Given the description of an element on the screen output the (x, y) to click on. 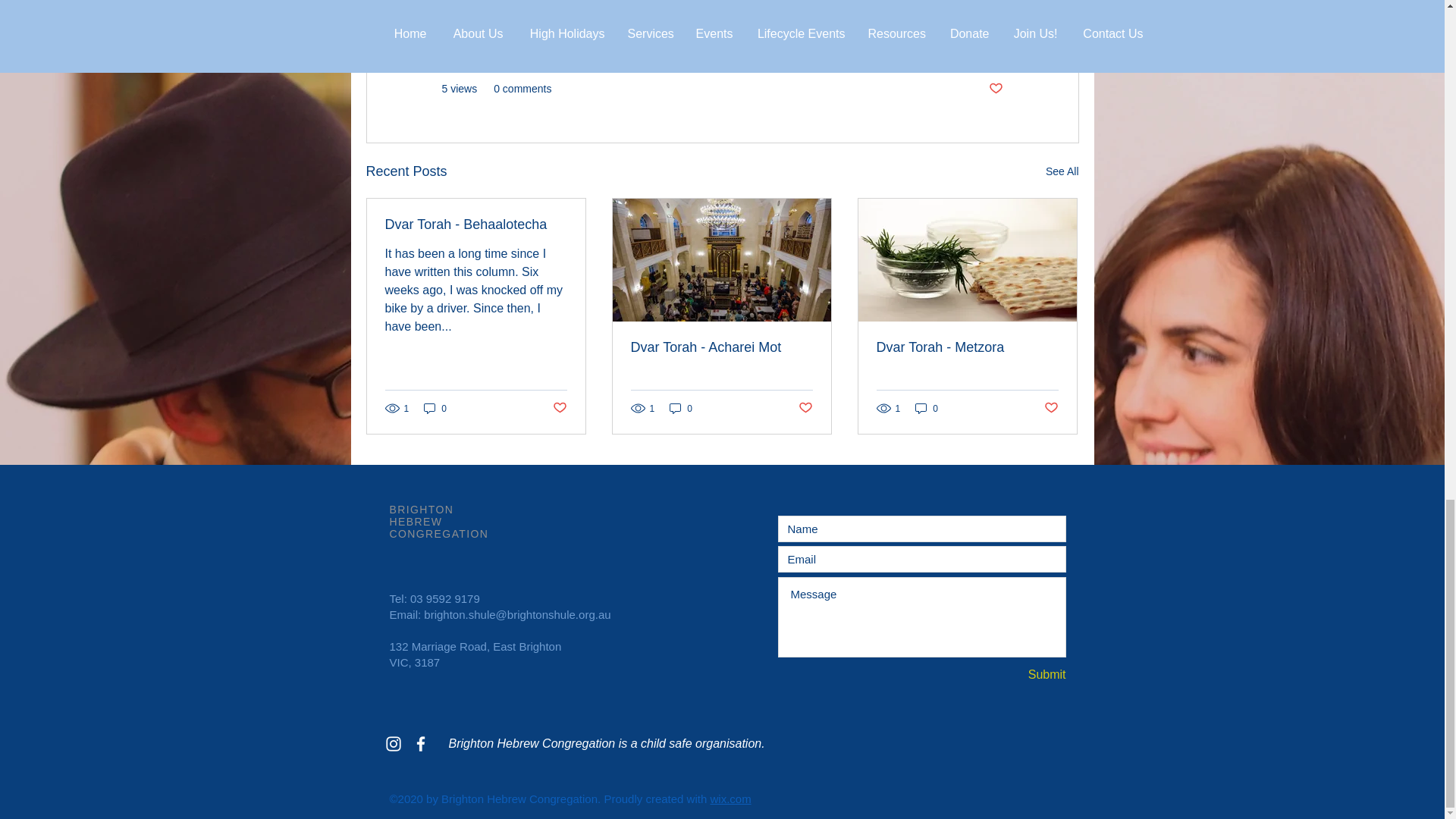
Post not marked as liked (558, 408)
Dvar Torah - Behaalotecha (476, 224)
Post not marked as liked (804, 408)
Post not marked as liked (995, 89)
See All (1061, 171)
Dvar Torah - Acharei Mot (721, 347)
0 (926, 408)
0 (435, 408)
0 (681, 408)
Post not marked as liked (1050, 408)
